Given the description of an element on the screen output the (x, y) to click on. 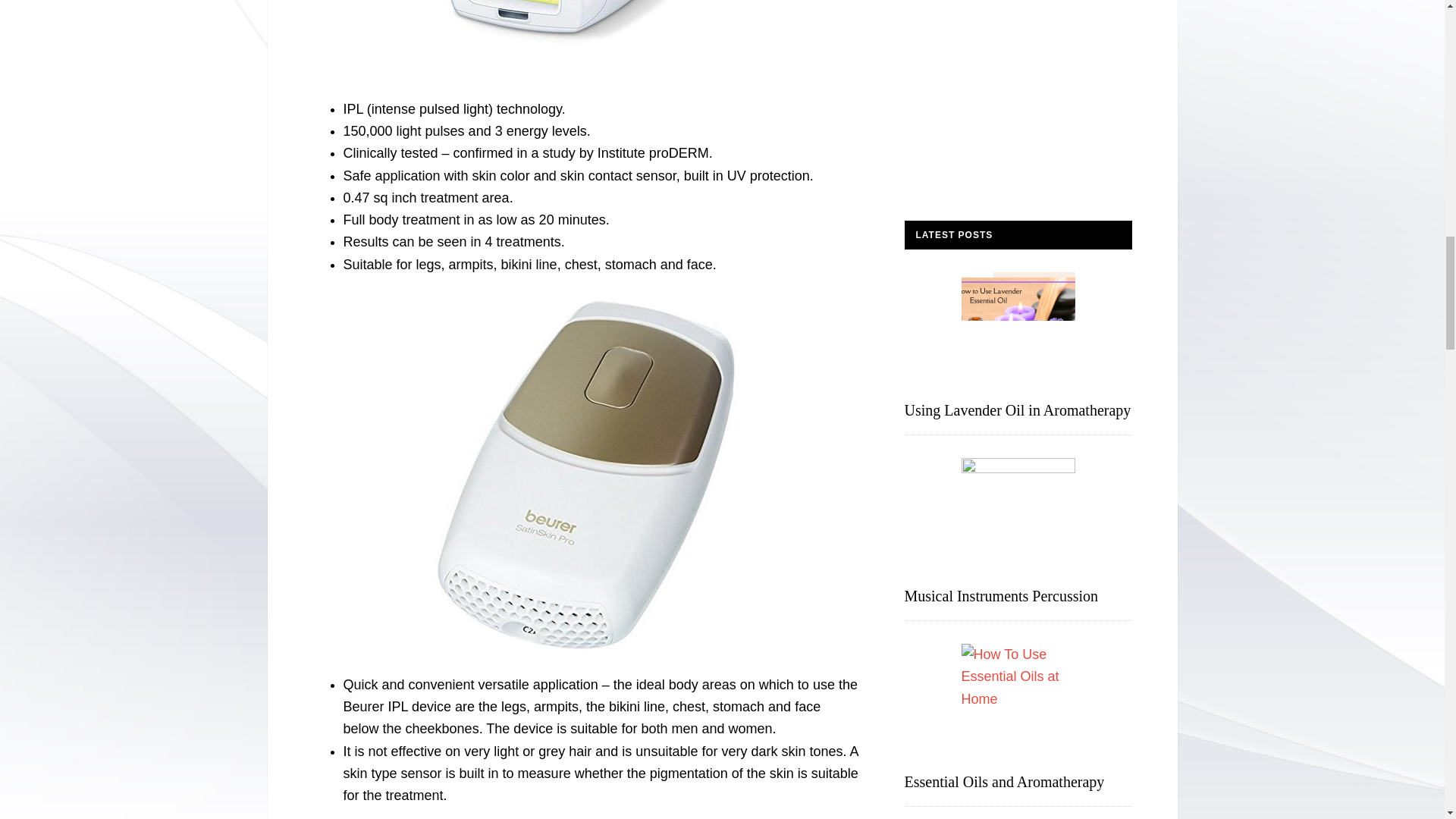
Using Lavender Oil in Aromatherapy (1017, 410)
Essential Oils and Aromatherapy (1003, 781)
Musical Instruments Percussion (1000, 596)
